Given the description of an element on the screen output the (x, y) to click on. 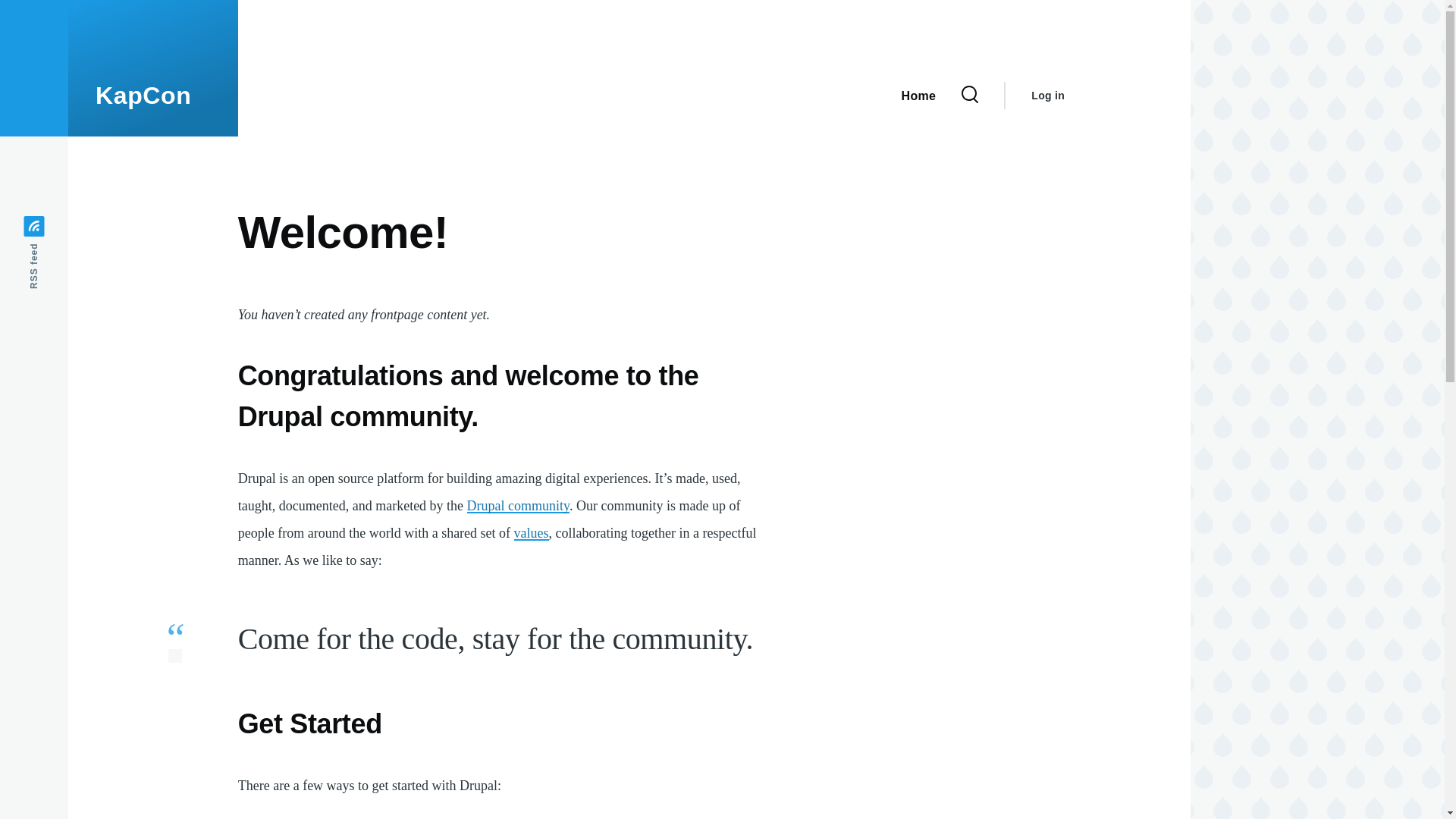
Skip to main content (595, 6)
RSS feed (60, 225)
Search (953, 190)
Log in (1047, 94)
Drupal community (518, 505)
values (530, 532)
Home (144, 94)
Home (918, 94)
KapCon (144, 94)
